Given the description of an element on the screen output the (x, y) to click on. 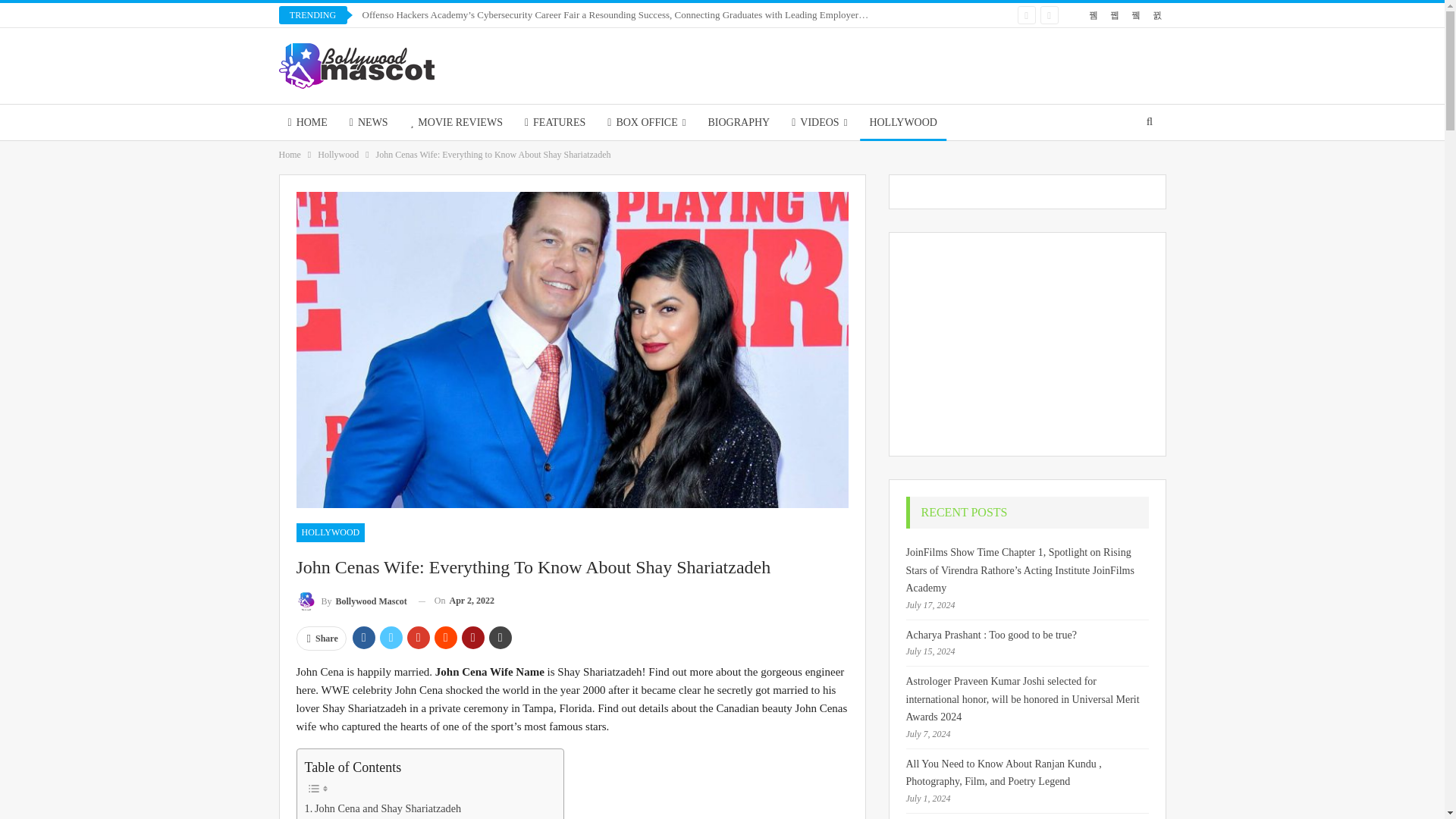
Home (290, 154)
Browse Author Articles (350, 600)
BOX OFFICE (646, 122)
NEWS (368, 122)
John Cena and Shay Shariatzadeh (382, 808)
HOME (307, 122)
MOVIE REVIEWS (456, 122)
VIDEOS (819, 122)
FEATURES (554, 122)
HOLLYWOOD (903, 122)
BIOGRAPHY (738, 122)
